Given the description of an element on the screen output the (x, y) to click on. 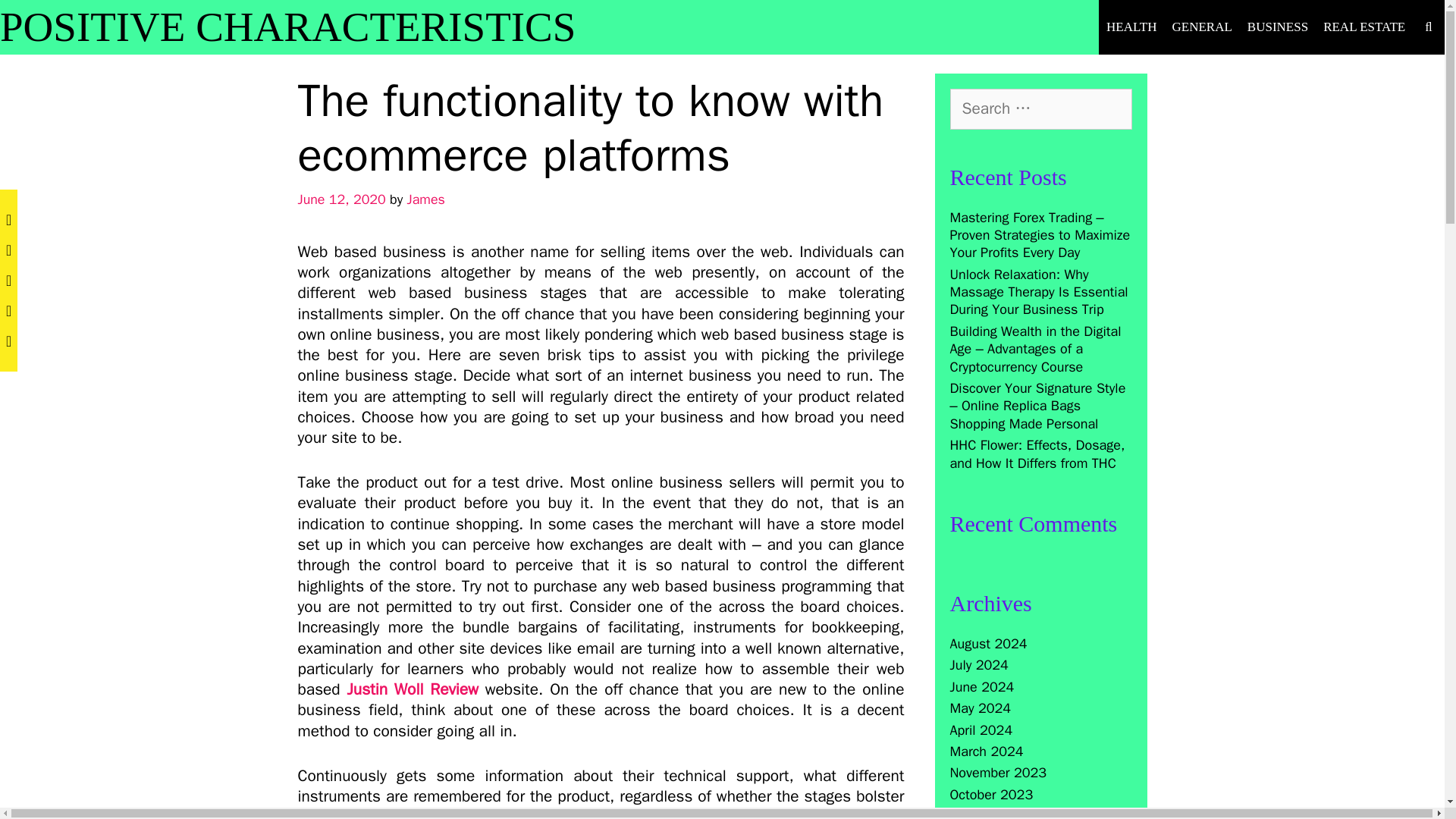
POSITIVE CHARACTERISTICS (287, 26)
May 2024 (979, 708)
Search for: (1040, 108)
BUSINESS (1278, 27)
View all posts by James (426, 199)
10:39 am (341, 199)
September 2023 (1000, 813)
June 2024 (981, 686)
August 2024 (987, 643)
April 2024 (980, 729)
